Given the description of an element on the screen output the (x, y) to click on. 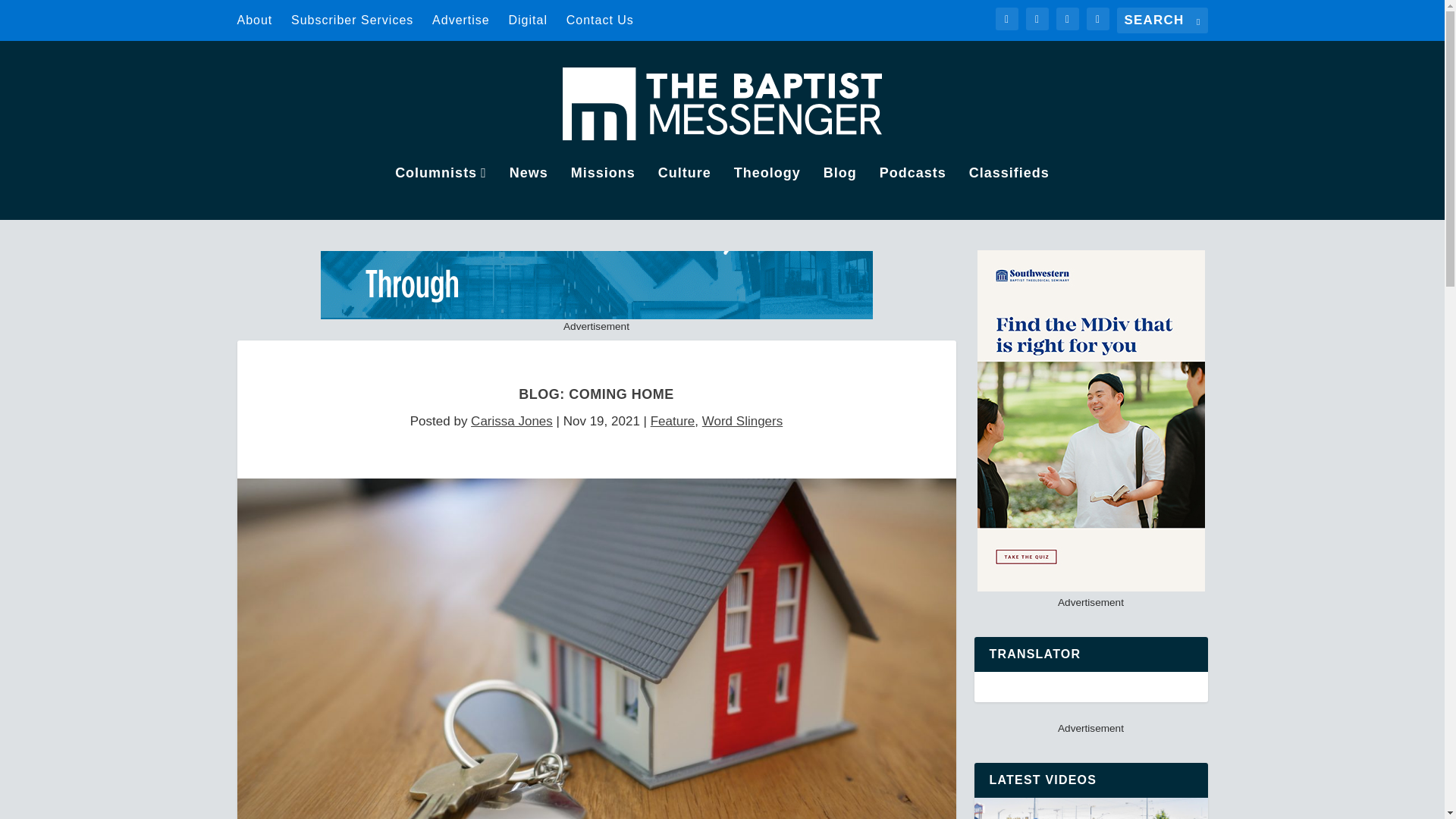
Theology (766, 193)
Subscriber Services (352, 20)
Columnists (440, 193)
Search for: (1161, 20)
Contact Us (599, 20)
About (253, 20)
Classifieds (1009, 193)
Advertise (460, 20)
Digital (527, 20)
Posts by Carissa Jones (511, 421)
Culture (684, 193)
Podcasts (912, 193)
Missions (602, 193)
